Given the description of an element on the screen output the (x, y) to click on. 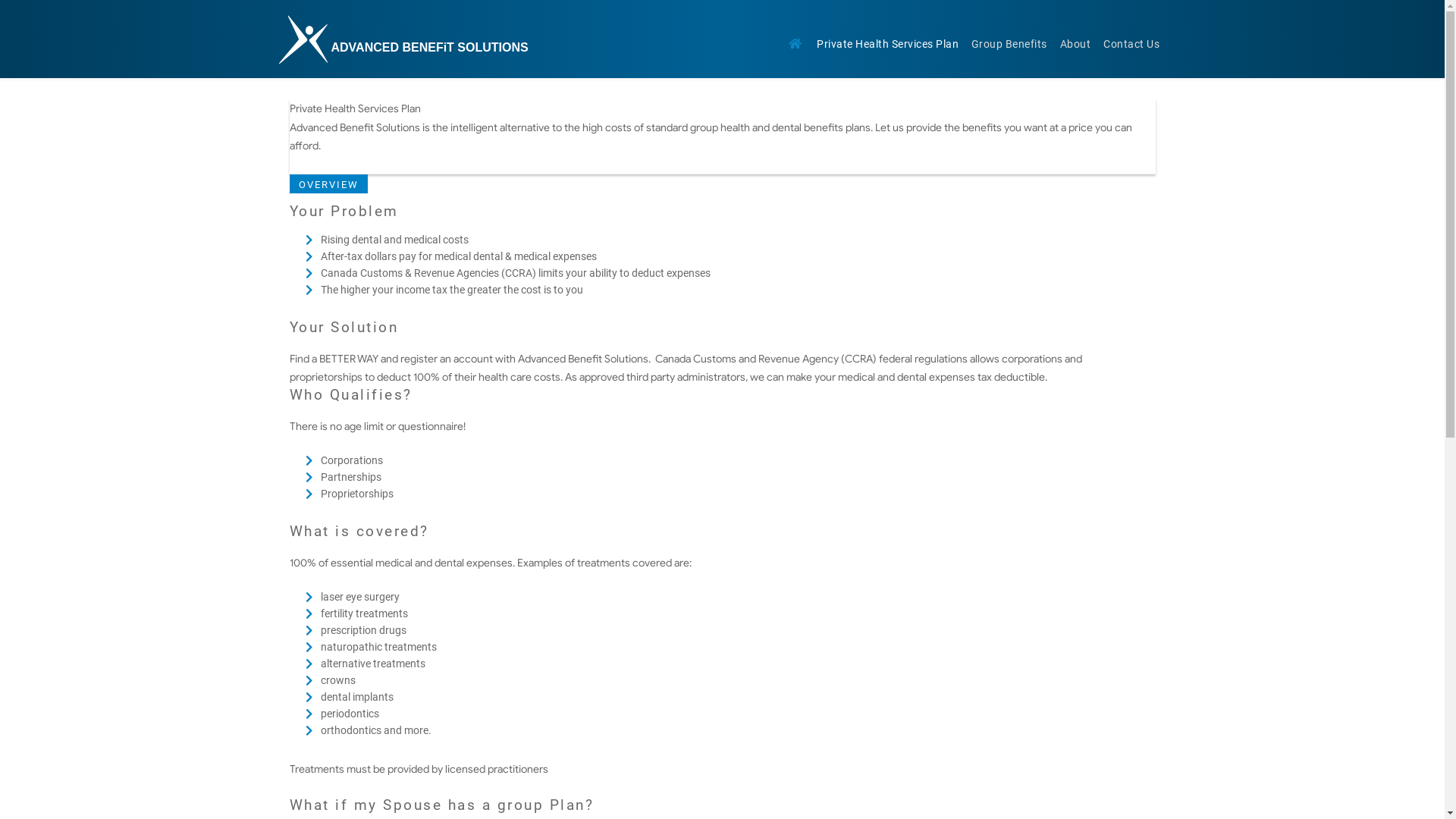
ADVANCED BENEFiT SOLUTIONS Element type: text (428, 46)
Contact Us Element type: text (1131, 45)
Private Health Services Plan Element type: text (887, 45)
About Element type: text (1074, 45)
Group Benefits Element type: text (1008, 45)
